Given the description of an element on the screen output the (x, y) to click on. 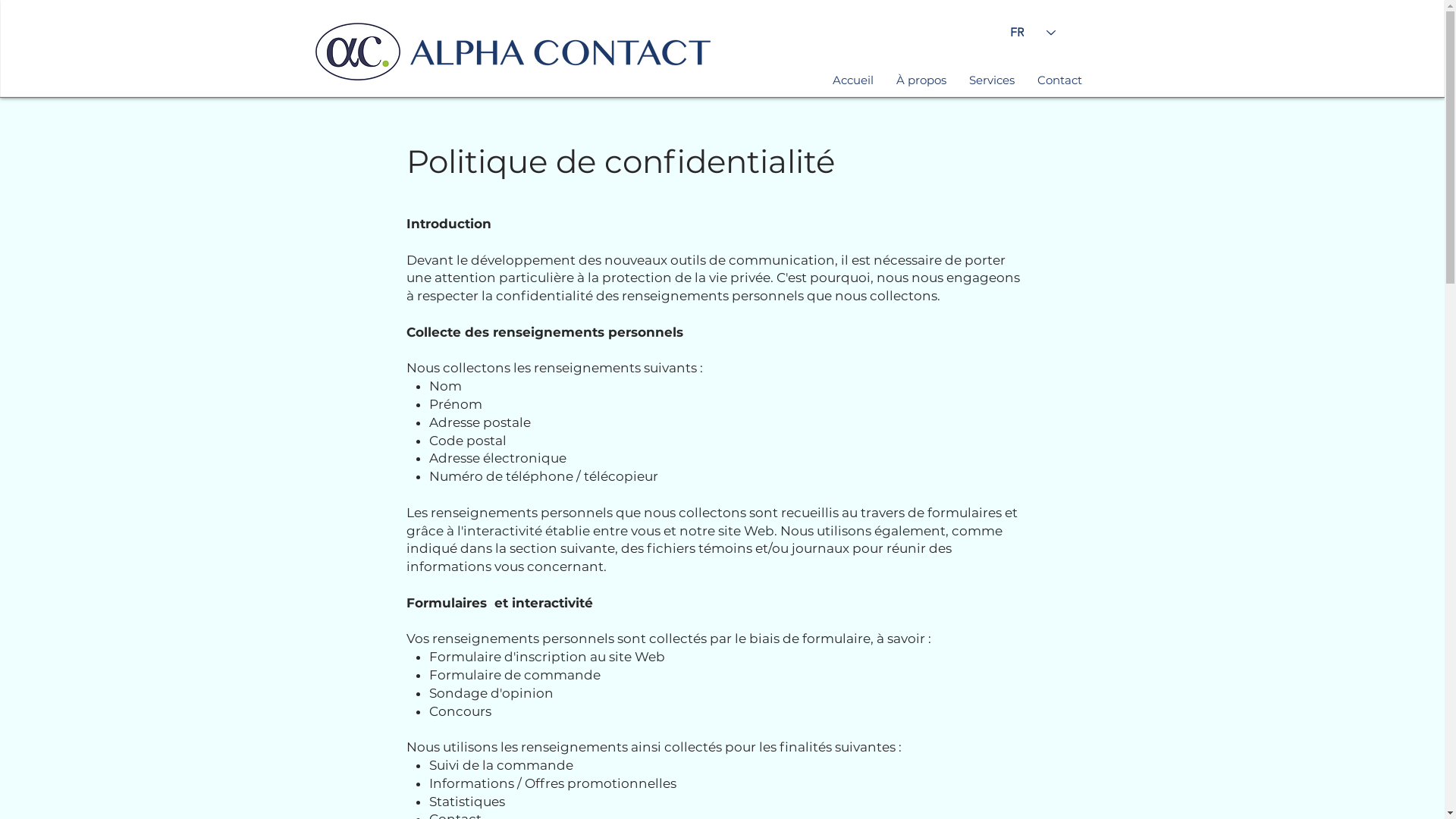
Accueil Element type: text (852, 79)
Services Element type: text (991, 79)
Contact Element type: text (1058, 79)
